Given the description of an element on the screen output the (x, y) to click on. 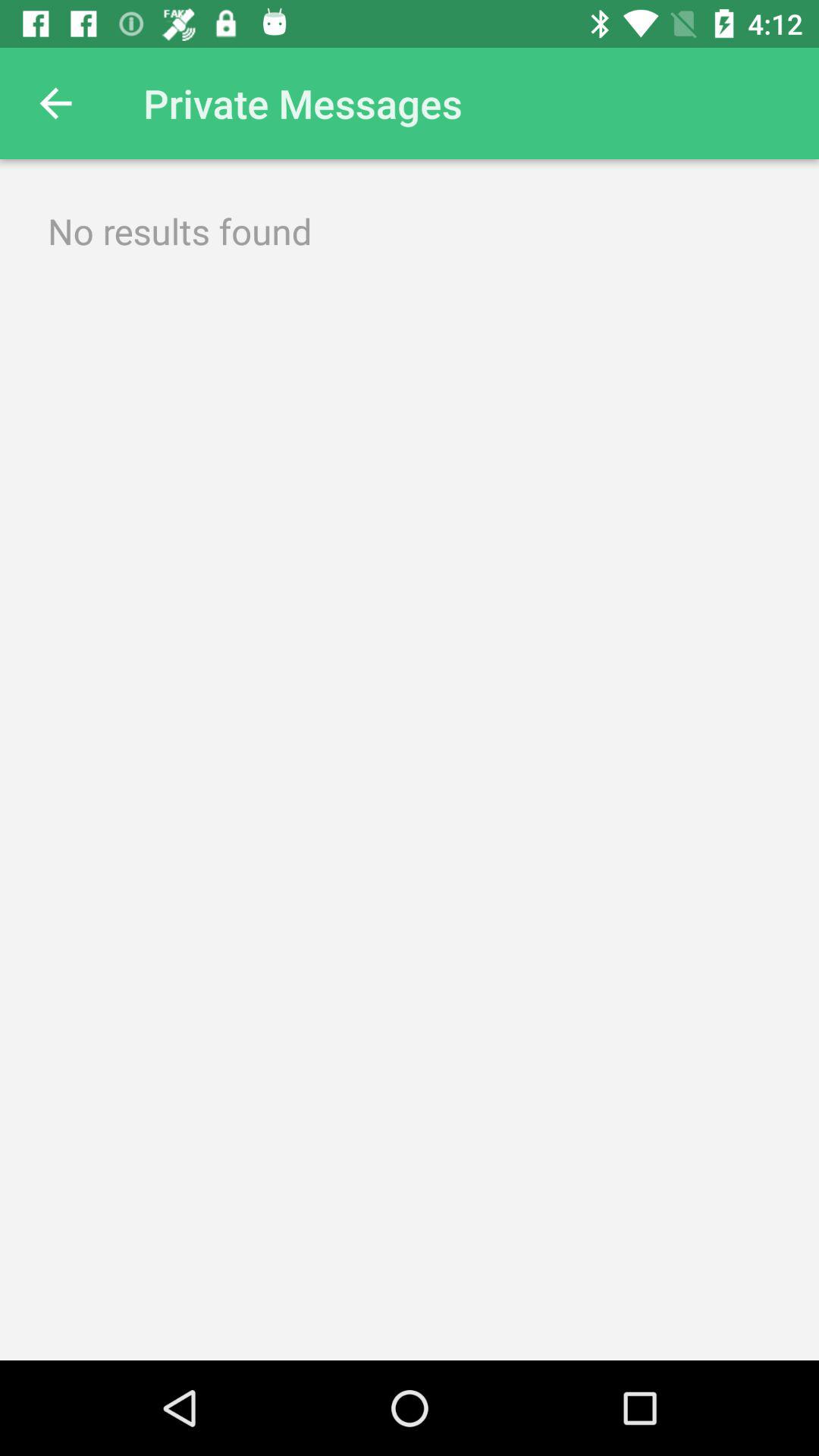
select the item at the top left corner (55, 103)
